Given the description of an element on the screen output the (x, y) to click on. 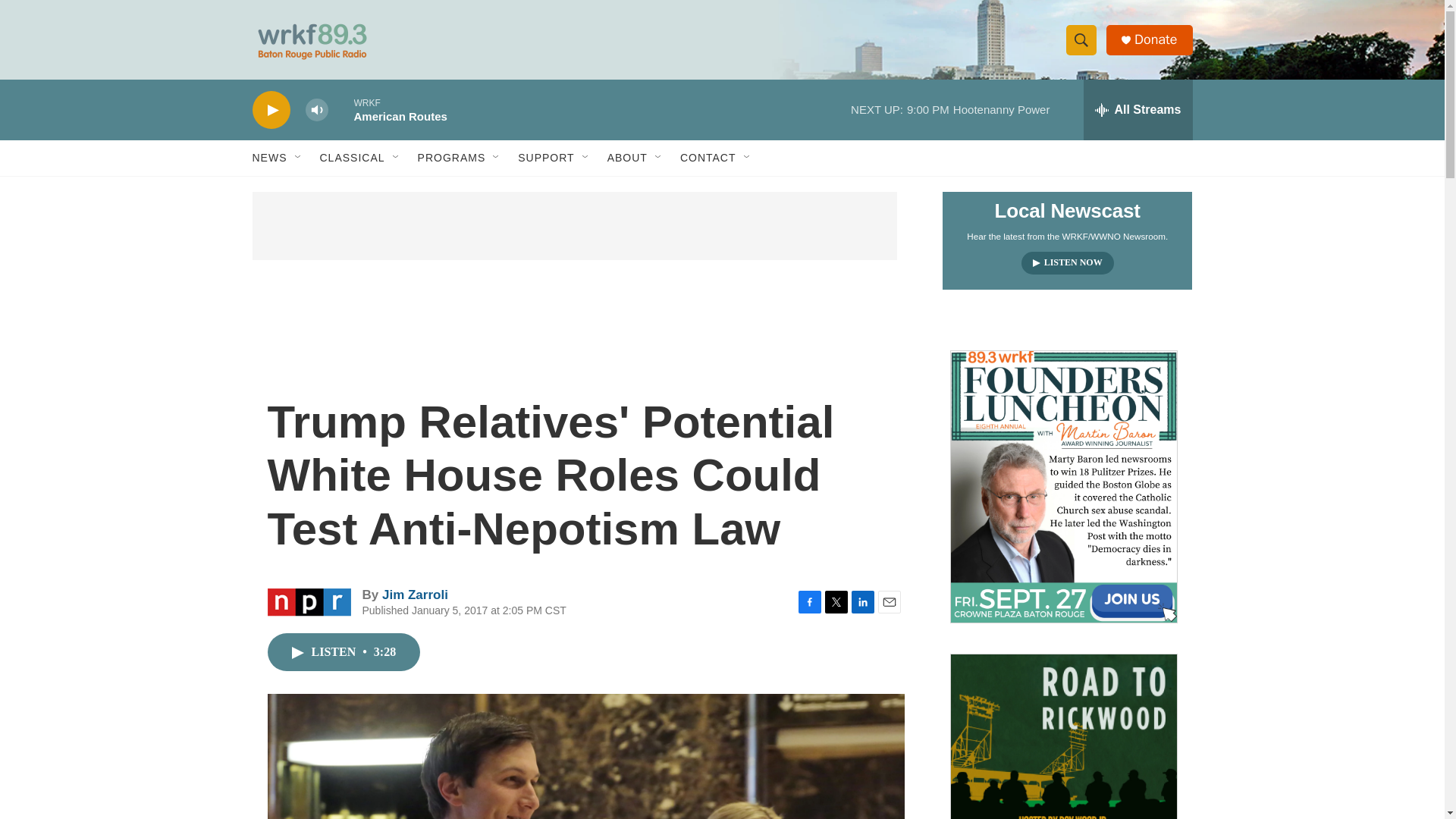
3rd party ad content (574, 225)
